Given the description of an element on the screen output the (x, y) to click on. 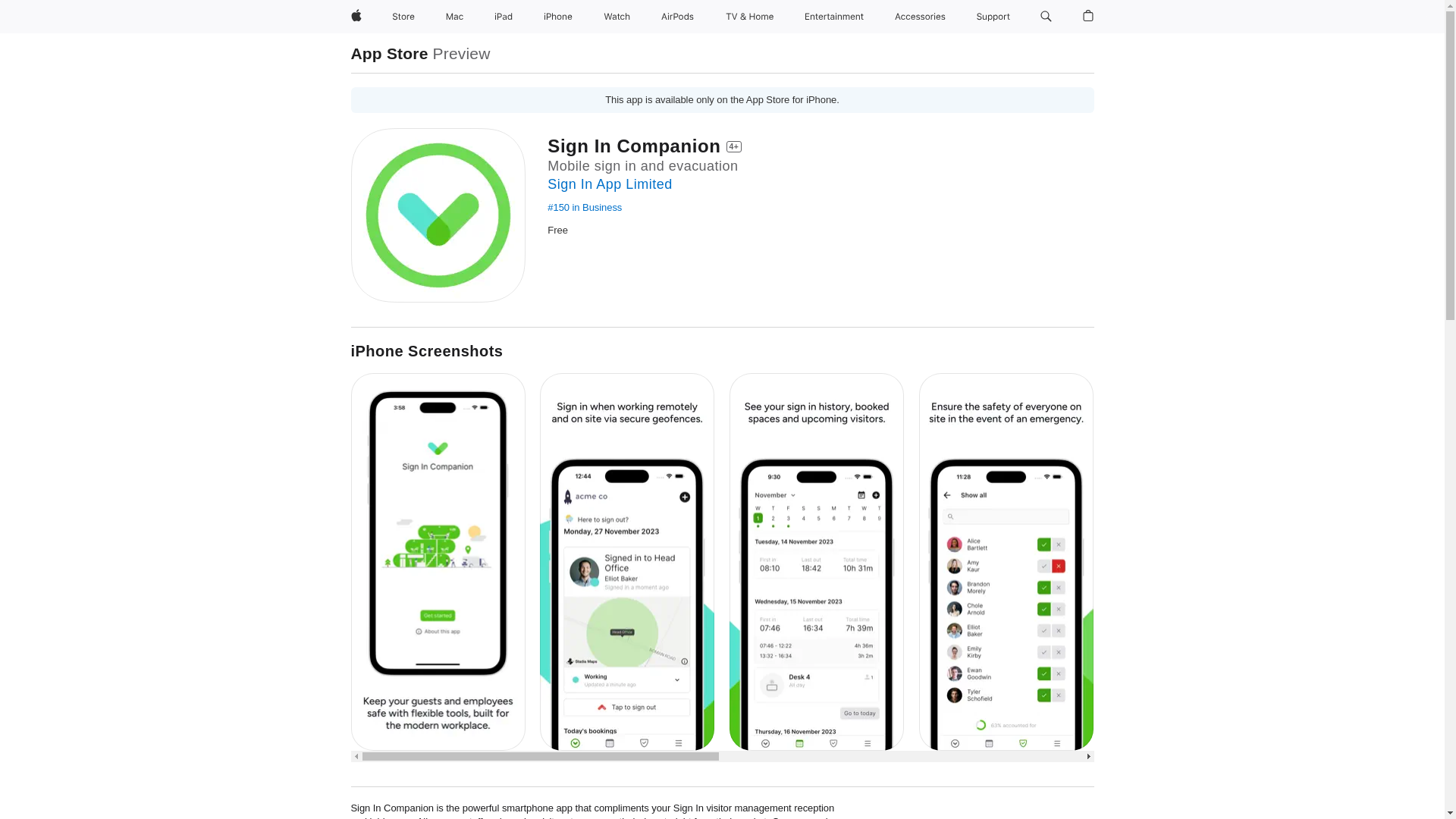
Accessories (920, 16)
Watch (616, 16)
Support (993, 16)
Store (402, 16)
App Store (389, 53)
iPhone  (557, 16)
Entertainment (834, 16)
AirPods (677, 16)
iPad (502, 16)
Sign In App Limited (609, 183)
